Given the description of an element on the screen output the (x, y) to click on. 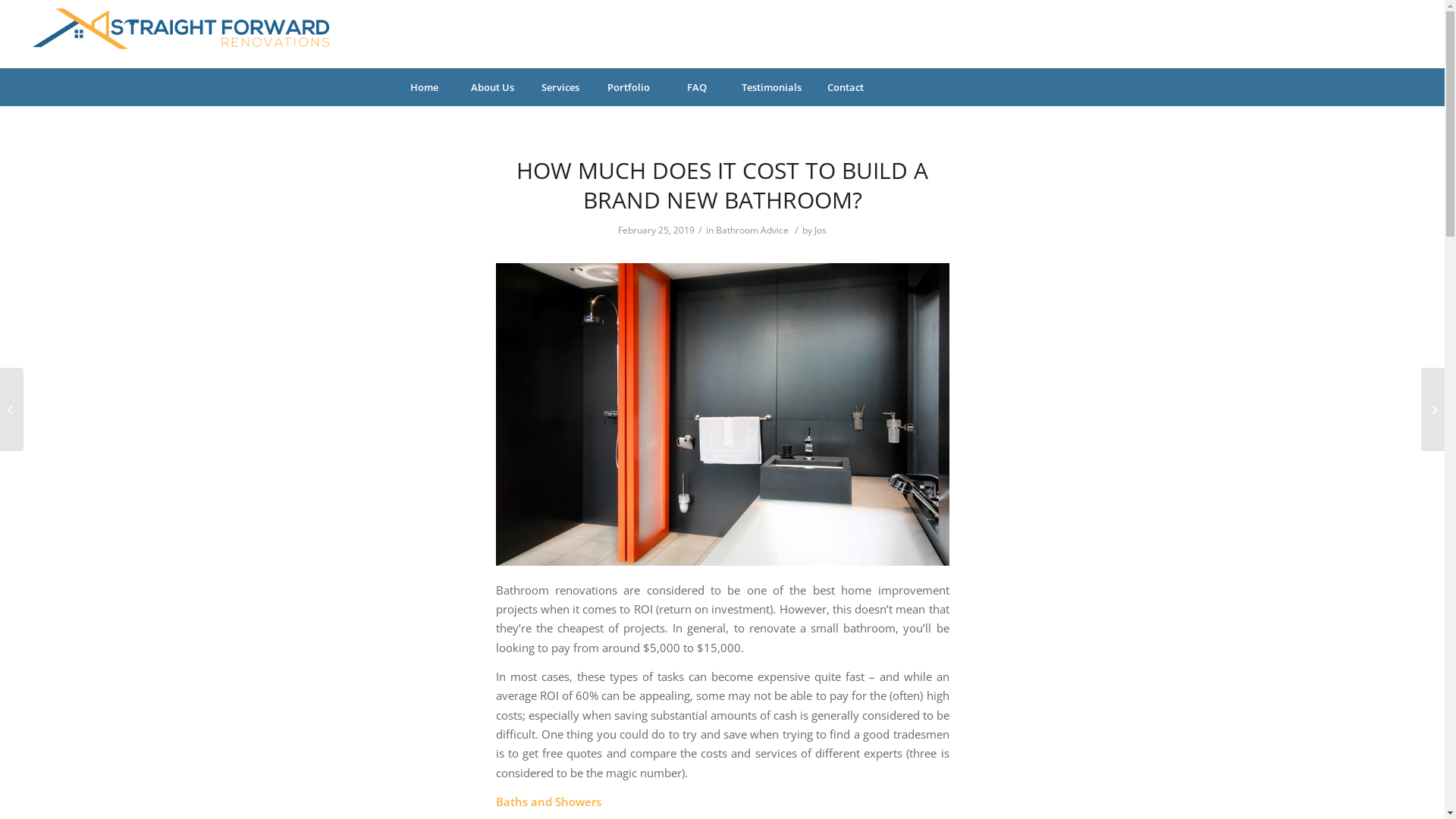
Portfolio Element type: text (628, 87)
FAQ Element type: text (696, 87)
Bathroom Advice Element type: text (751, 229)
Contact Element type: text (845, 87)
Testimonials Element type: text (771, 87)
Home Element type: text (423, 87)
Jos Element type: text (820, 229)
HOW MUCH DOES IT COST TO BUILD A BRAND NEW BATHROOM? Element type: text (722, 184)
About Us Element type: text (492, 87)
Services Element type: text (560, 87)
